Given the description of an element on the screen output the (x, y) to click on. 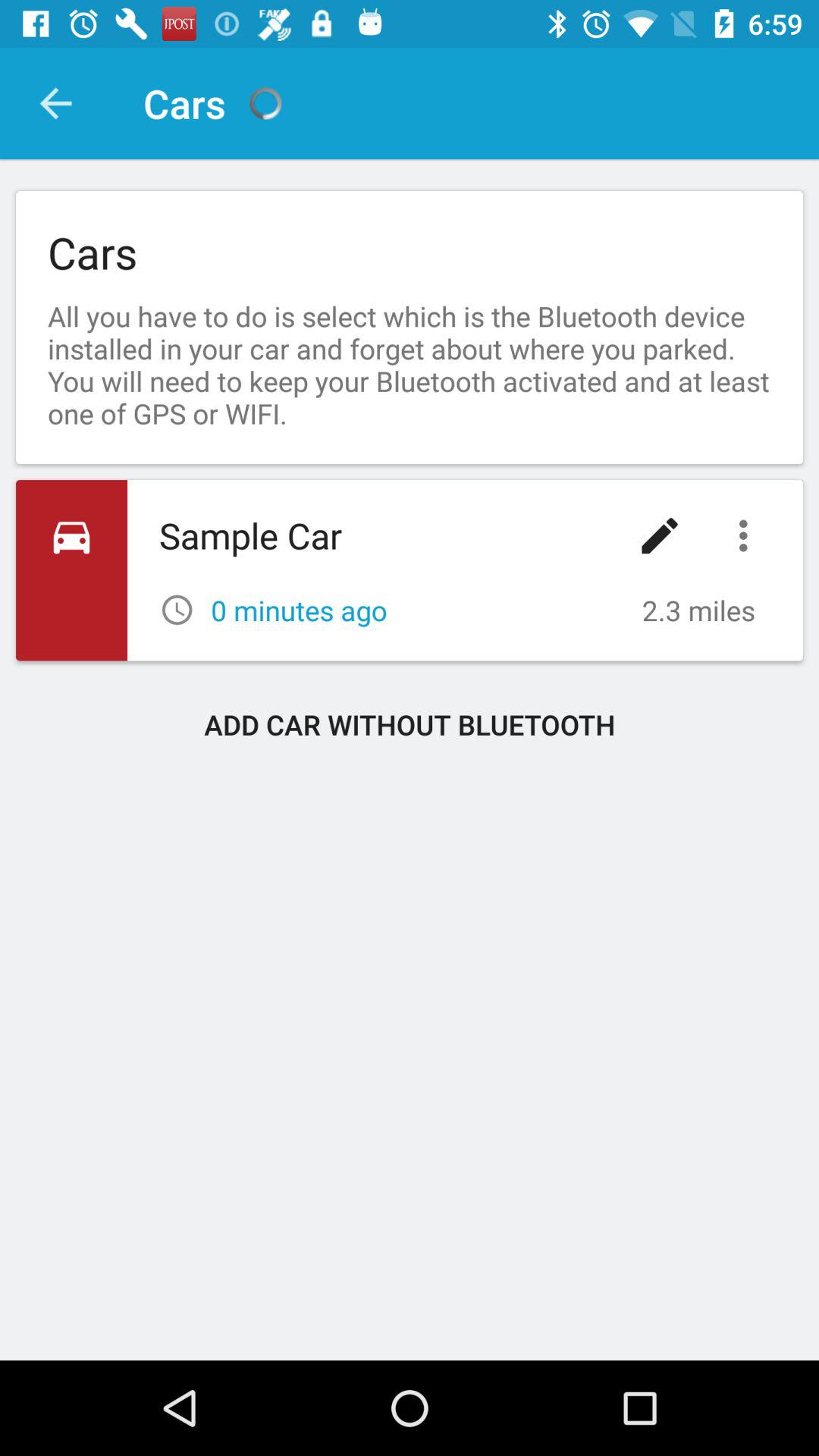
turn on the add car without (409, 724)
